Given the description of an element on the screen output the (x, y) to click on. 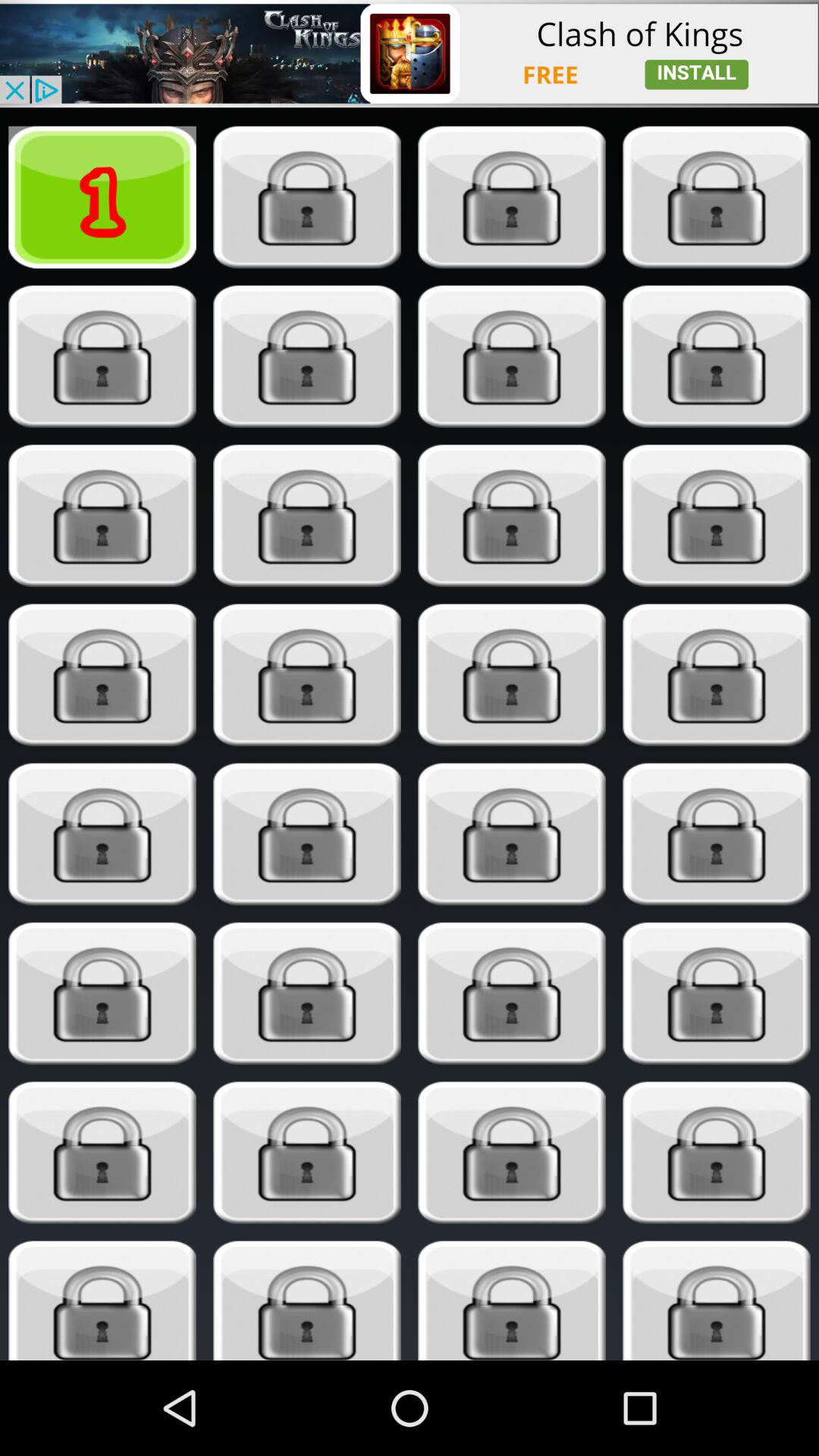
unlock button (716, 356)
